Given the description of an element on the screen output the (x, y) to click on. 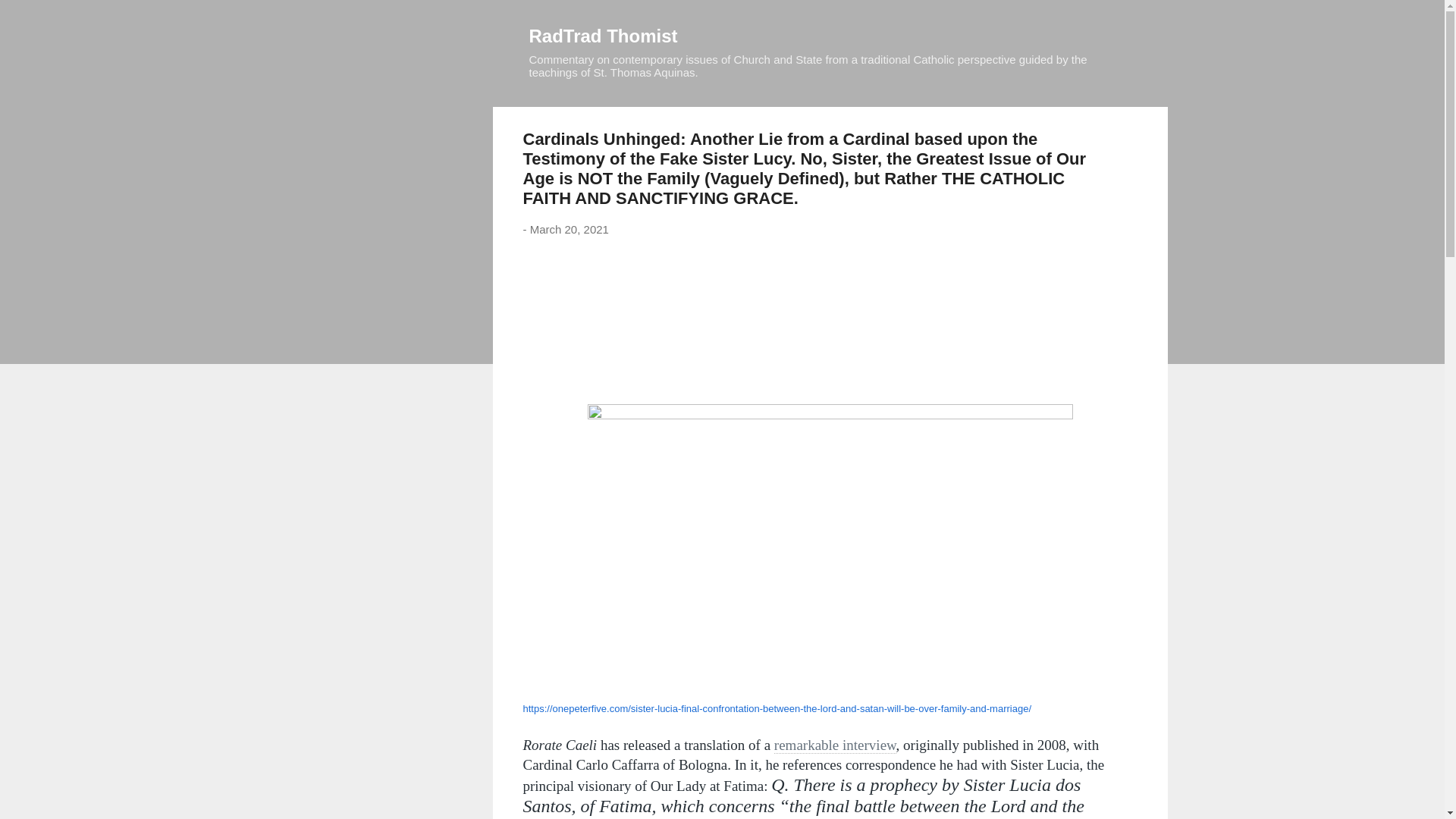
March 20, 2021 (568, 228)
RadTrad Thomist (603, 35)
permanent link (568, 228)
Search (29, 18)
remarkable interview (835, 745)
